Given the description of an element on the screen output the (x, y) to click on. 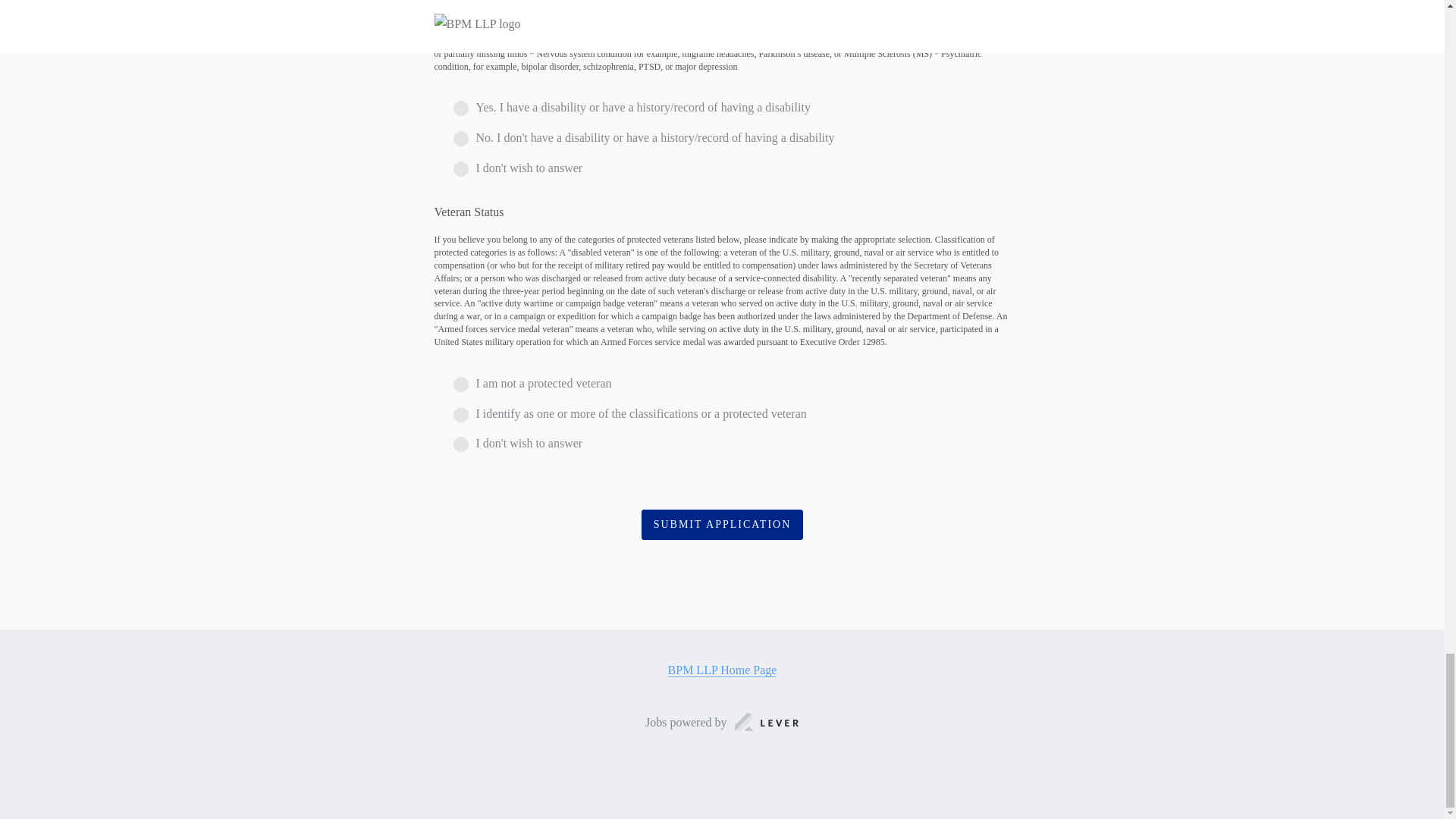
BPM LLP Home Page (722, 670)
SUBMIT APPLICATION (722, 524)
Jobs powered by (722, 722)
